Given the description of an element on the screen output the (x, y) to click on. 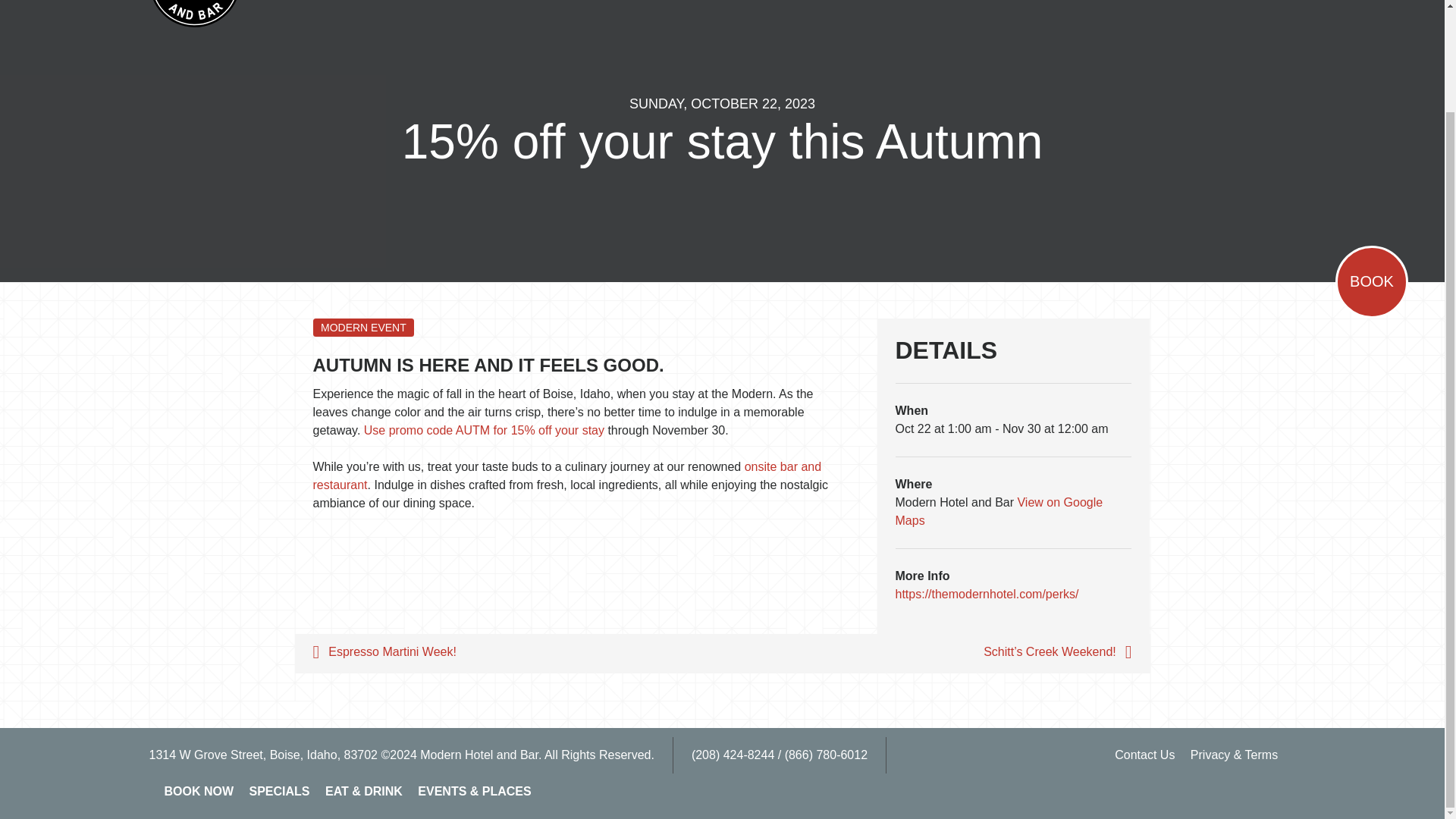
Home (194, 13)
Contact Us (1144, 755)
onsite bar and restaurant (567, 475)
View on Google Maps (998, 511)
BOOK (1371, 281)
SPECIALS (279, 791)
BOOK NOW (198, 791)
Espresso Martini Week! (508, 653)
